Given the description of an element on the screen output the (x, y) to click on. 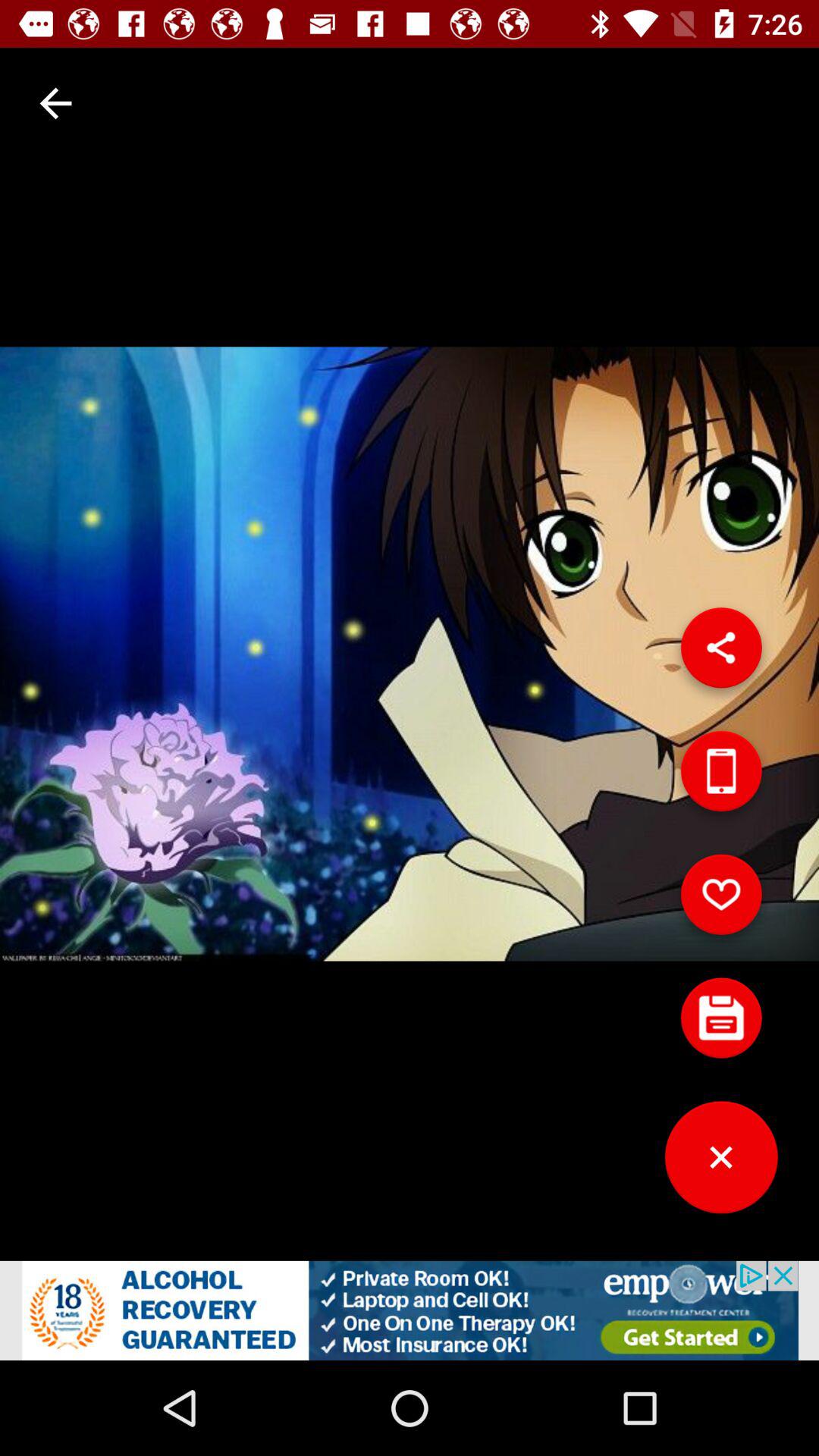
click on advertisements (409, 1310)
